Given the description of an element on the screen output the (x, y) to click on. 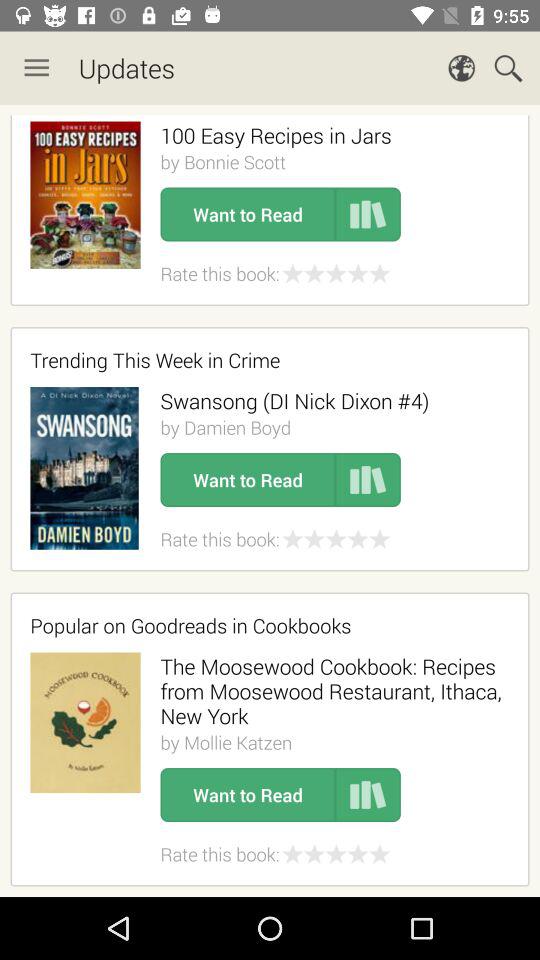
add to list (367, 479)
